Given the description of an element on the screen output the (x, y) to click on. 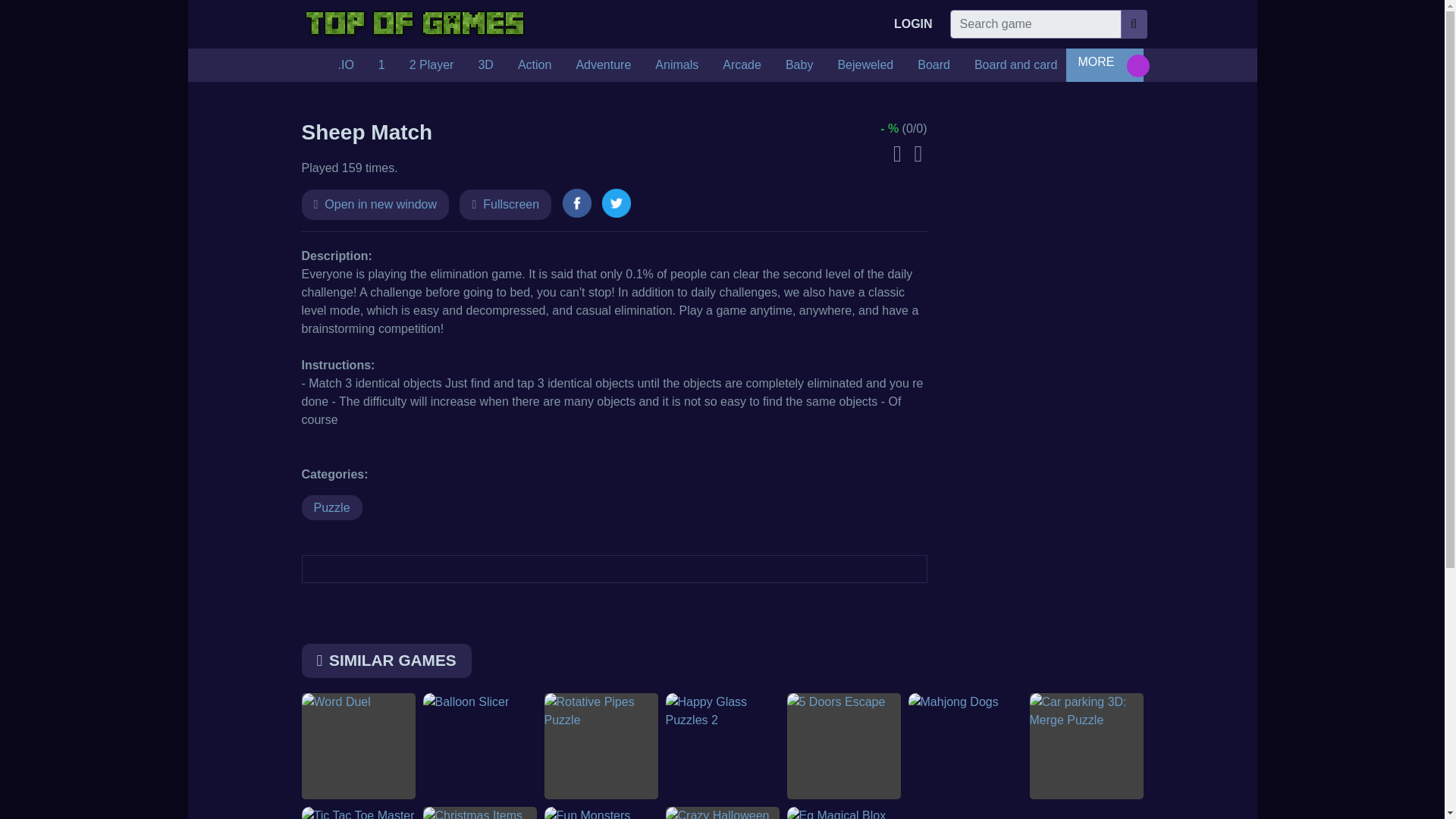
Board (933, 64)
Arcade (741, 64)
Action (534, 64)
Bejeweled (865, 64)
Animals (676, 64)
.IO (346, 64)
1 (381, 64)
3D (485, 64)
Baby (799, 64)
Board and card (1015, 64)
LOGIN (913, 24)
Adventure (603, 64)
2 Player (431, 64)
